Given the description of an element on the screen output the (x, y) to click on. 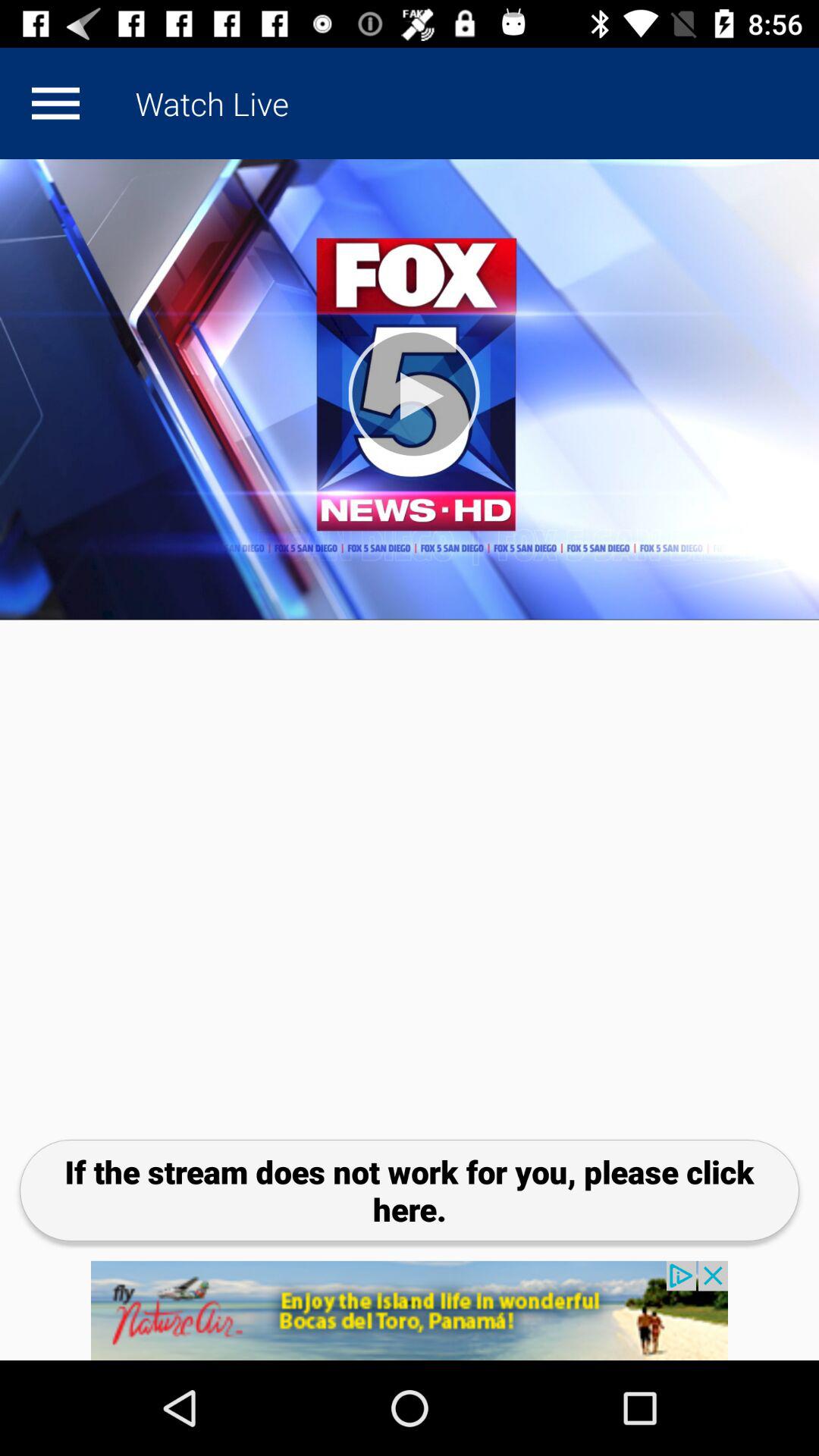
go to fox 5 video (409, 389)
